Given the description of an element on the screen output the (x, y) to click on. 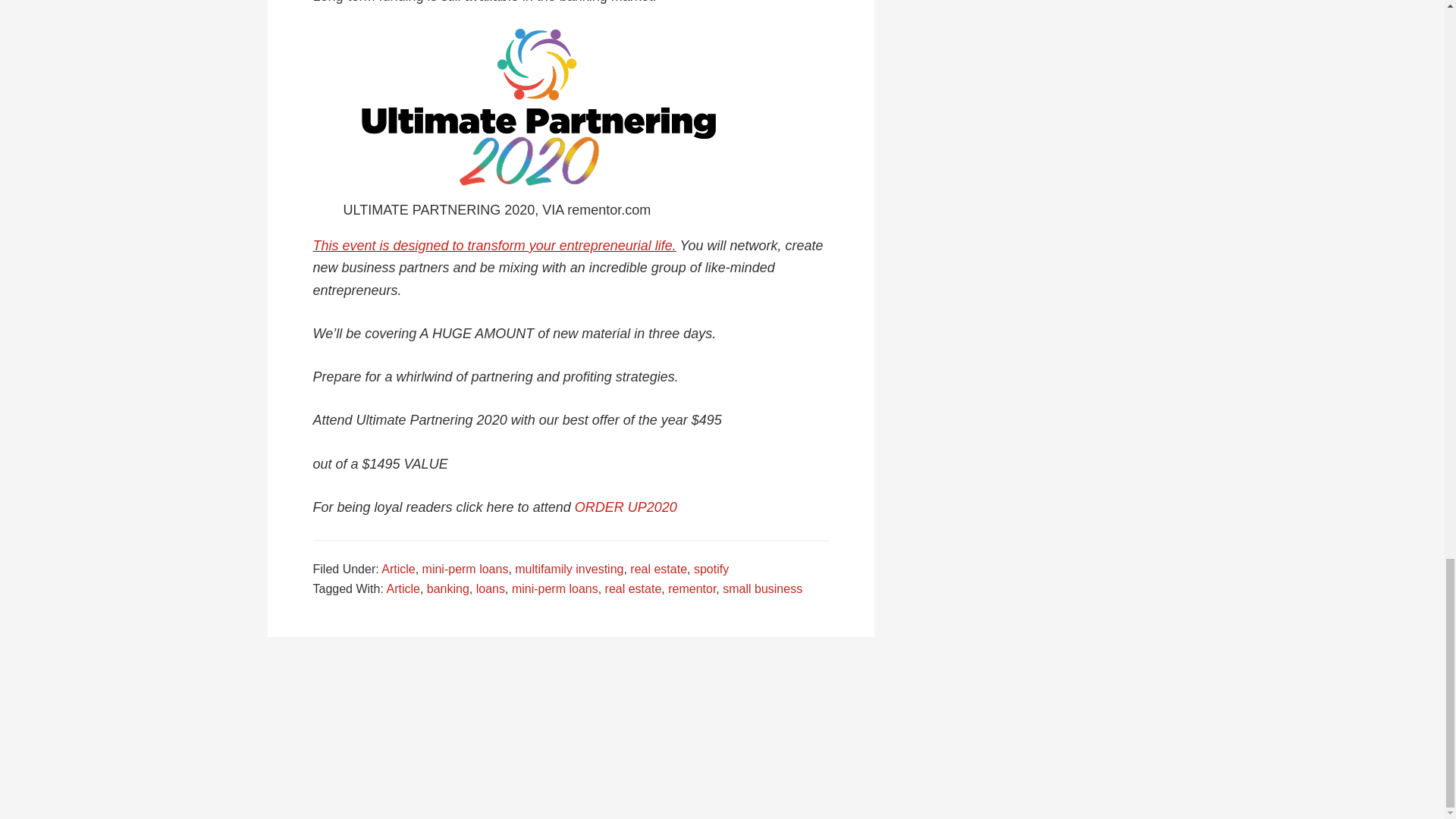
mini-perm loans (465, 568)
Article (397, 568)
banking (447, 588)
real estate (658, 568)
rementor (692, 588)
ORDER UP2020 (626, 507)
Article (402, 588)
spotify (711, 568)
loans (490, 588)
